Given the description of an element on the screen output the (x, y) to click on. 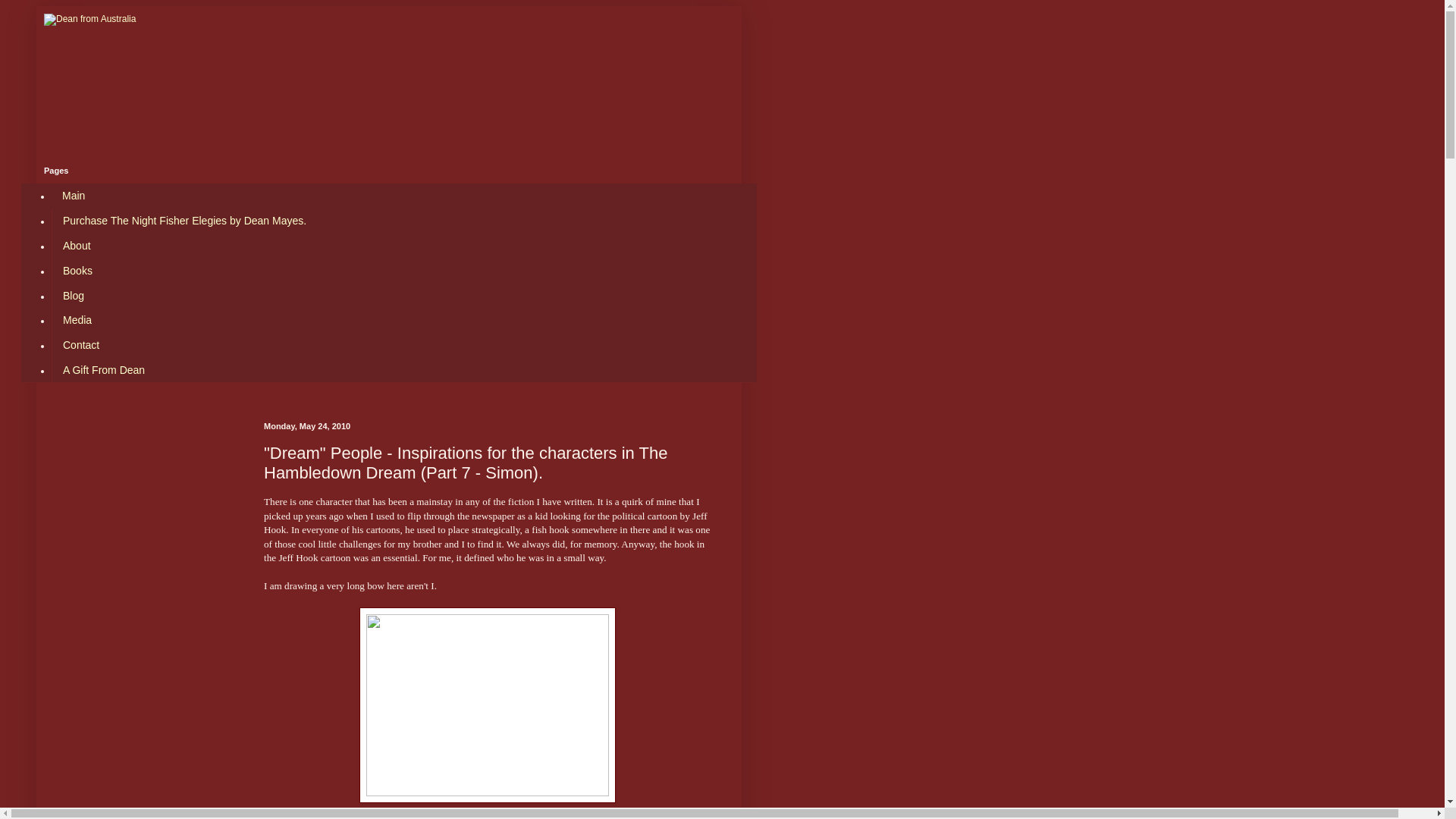
Main (73, 195)
Media (75, 319)
Blog (72, 294)
Purchase The Night Fisher Elegies by Dean Mayes. (183, 220)
Contact (80, 344)
Books (76, 269)
A Gift From Dean (102, 369)
About (75, 245)
